Given the description of an element on the screen output the (x, y) to click on. 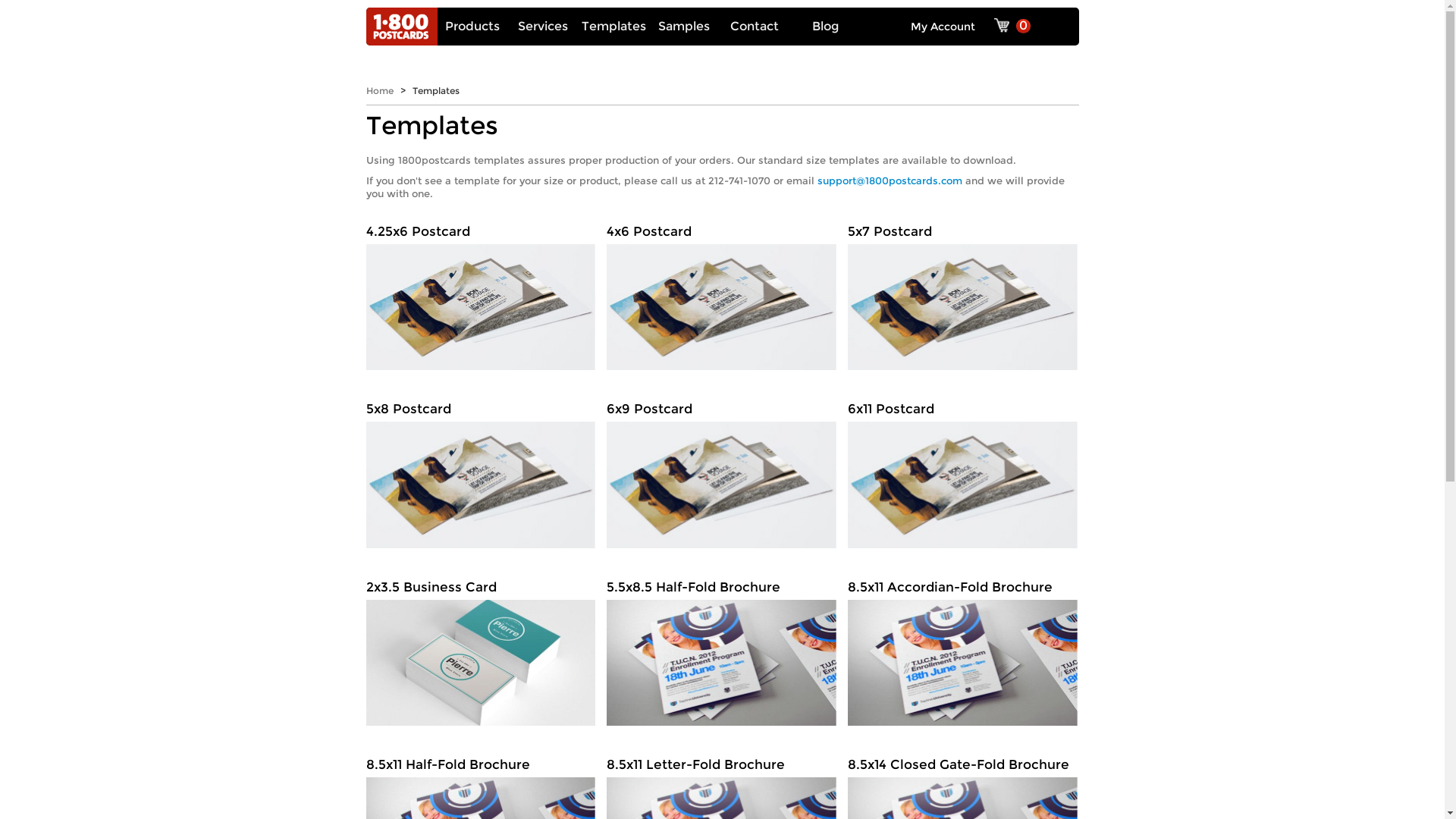
5.5x8.5 Half-Fold Brochure Element type: text (721, 648)
Home Element type: text (378, 90)
Blog Element type: text (825, 26)
Templates Element type: text (613, 26)
6x11 Postcard Element type: text (962, 469)
Samples Element type: text (684, 26)
support@1800postcards.com Element type: text (889, 180)
Products Element type: text (471, 26)
5x7 Postcard Element type: text (962, 292)
Services Element type: text (543, 26)
0 Element type: text (1012, 26)
8.5x11 Accordian-Fold Brochure Element type: text (962, 648)
5x8 Postcard Element type: text (480, 469)
6x9 Postcard Element type: text (721, 469)
4.25x6 Postcard Element type: text (480, 292)
4x6 Postcard Element type: text (721, 292)
My Account Element type: text (942, 26)
2x3.5 Business Card Element type: text (480, 648)
Contact Element type: text (754, 26)
